Given the description of an element on the screen output the (x, y) to click on. 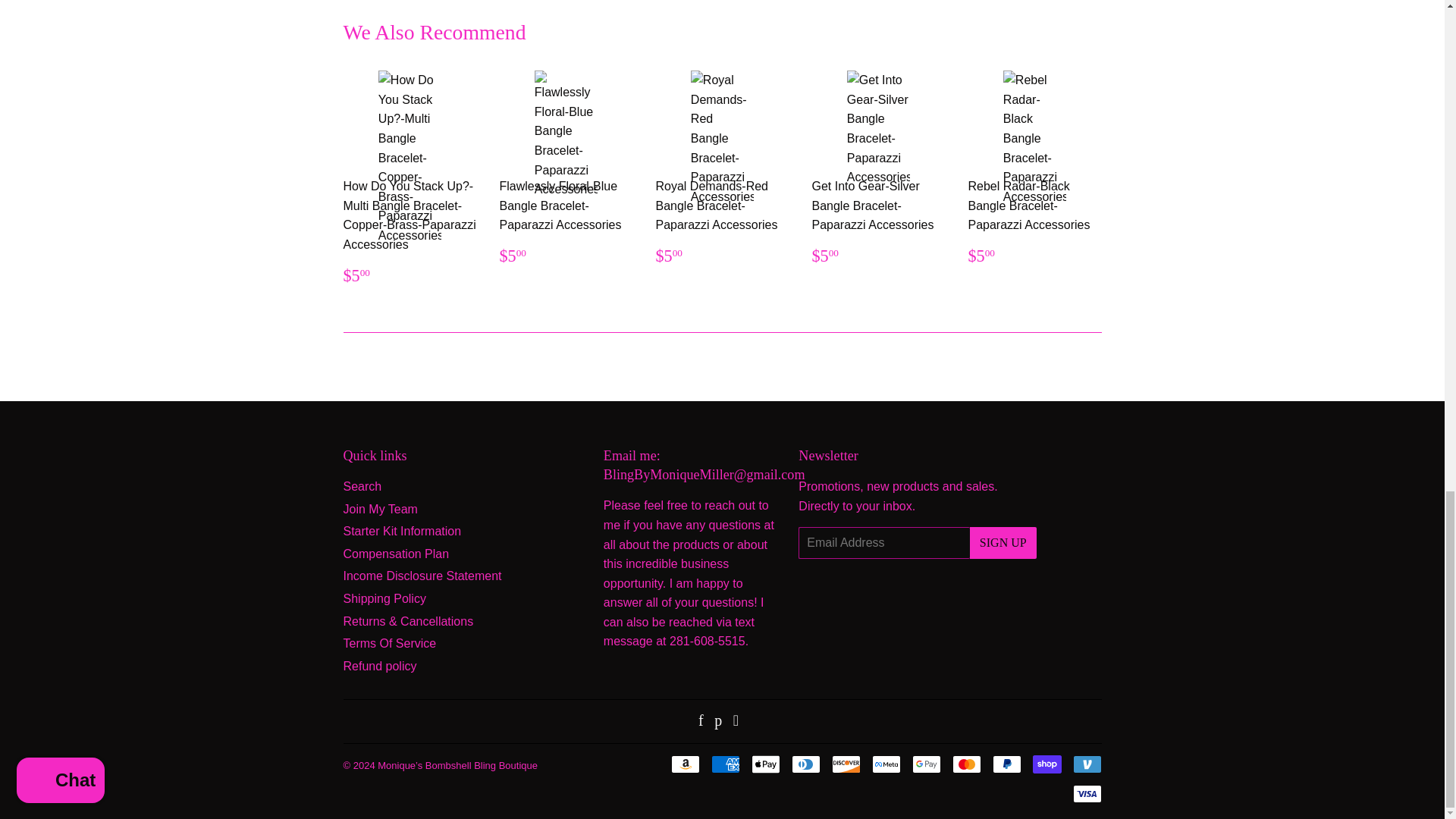
Shop Pay (1046, 764)
Amazon (683, 764)
Discover (845, 764)
Visa (1085, 793)
PayPal (1005, 764)
Venmo (1085, 764)
Google Pay (925, 764)
American Express (725, 764)
Apple Pay (764, 764)
Mastercard (966, 764)
